Given the description of an element on the screen output the (x, y) to click on. 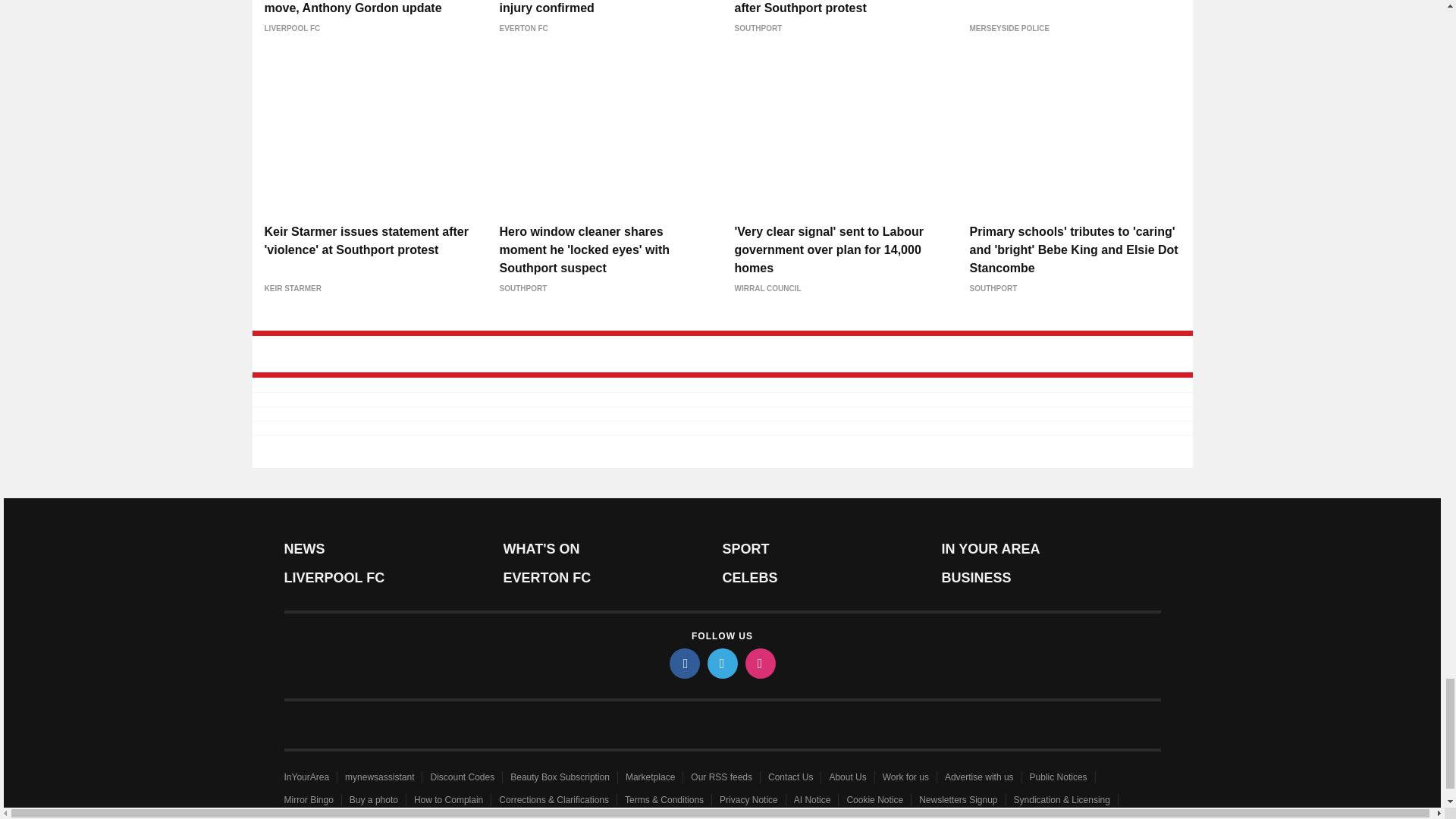
facebook (683, 663)
twitter (721, 663)
instagram (759, 663)
